Given the description of an element on the screen output the (x, y) to click on. 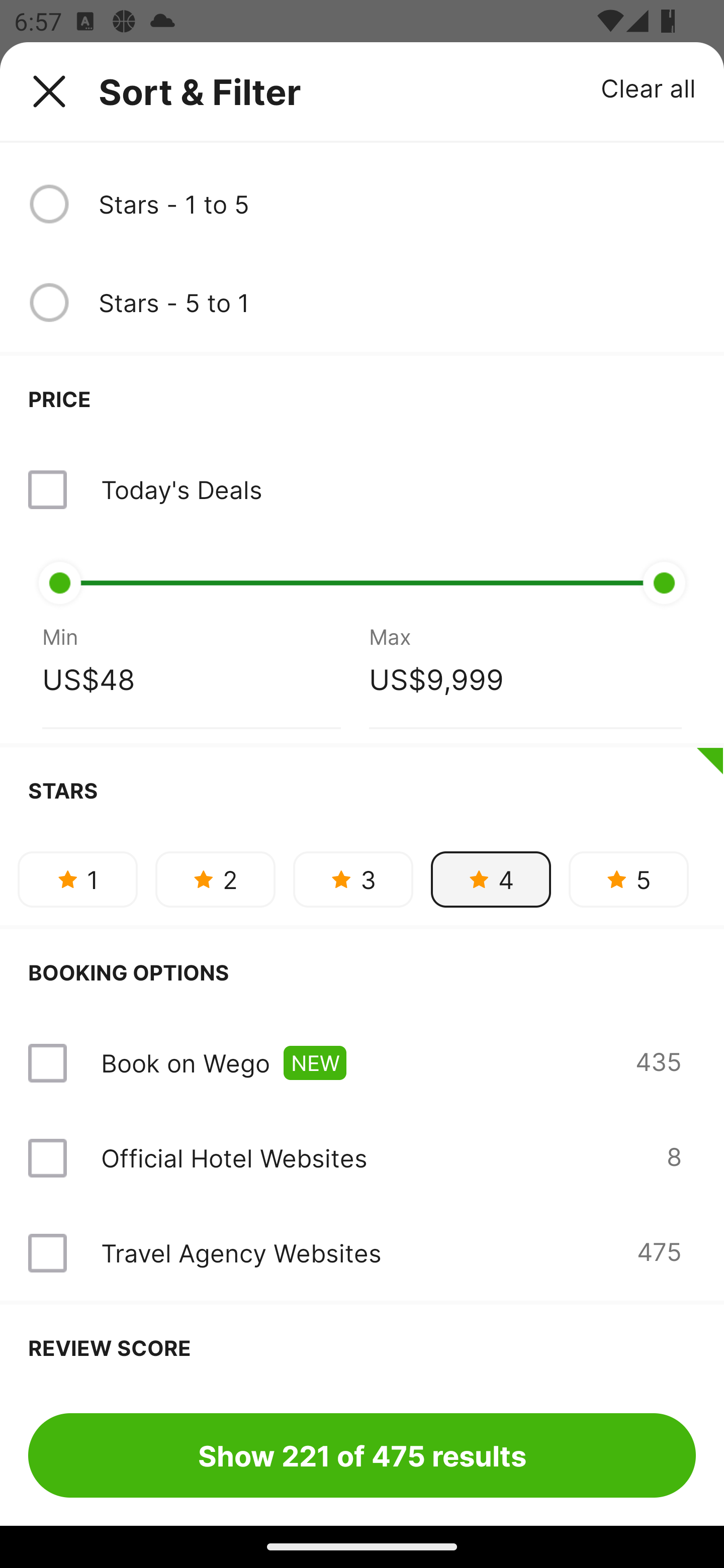
Clear all (648, 87)
Stars - 1 to 5 (396, 203)
Stars - 5 to 1 (396, 302)
Today's Deals (362, 489)
Today's Deals (181, 488)
1 (77, 879)
2 (214, 879)
3 (352, 879)
4 (491, 879)
5 (627, 879)
Book on Wego NEW 435 (362, 1063)
Book on Wego (184, 1062)
Official Hotel Websites 8 (362, 1157)
Official Hotel Websites (233, 1157)
Travel Agency Websites 475 (362, 1252)
Travel Agency Websites (240, 1252)
Show 221 of 475 results (361, 1454)
